Given the description of an element on the screen output the (x, y) to click on. 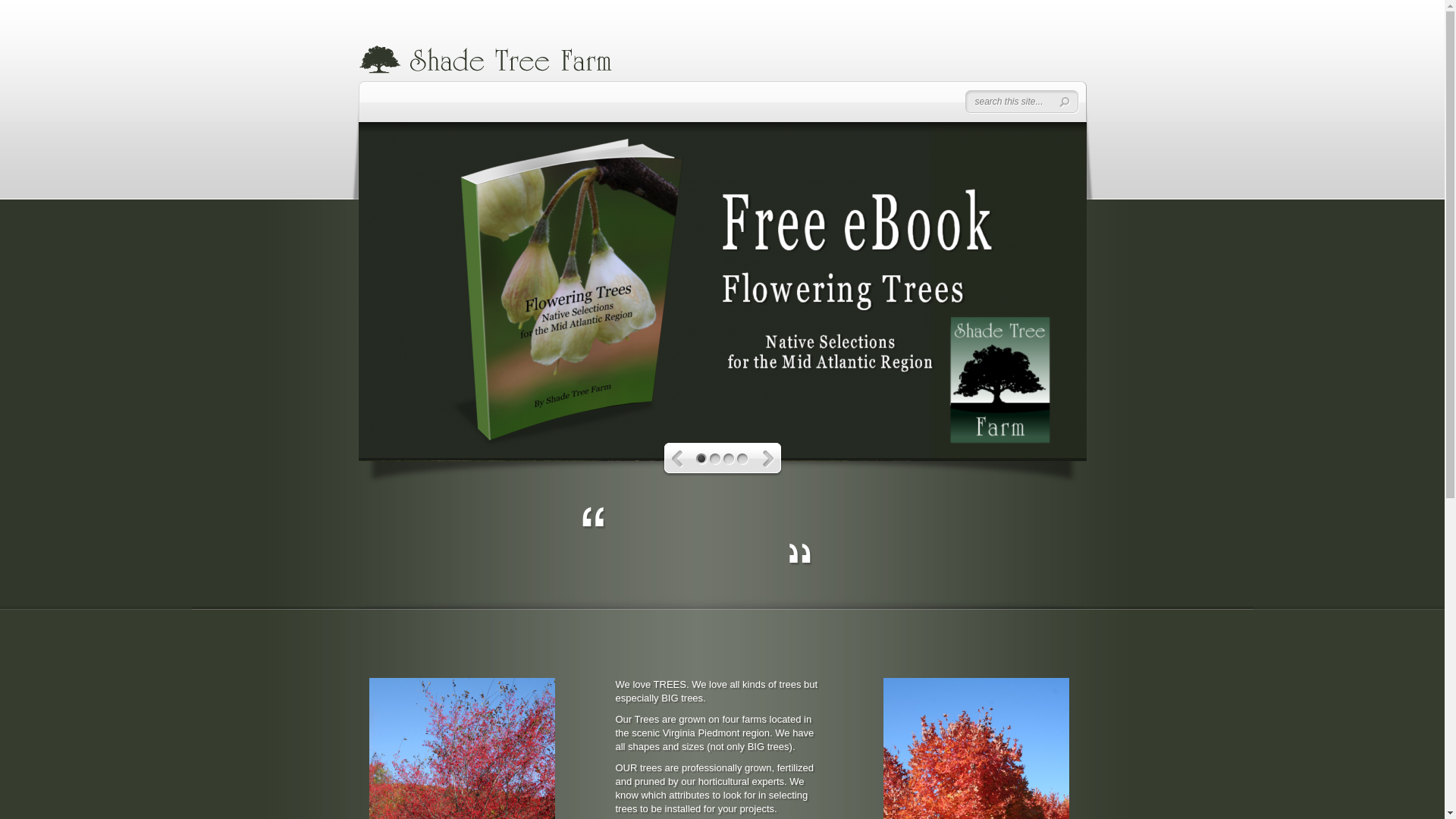
Legacy Sugar Maple (975, 748)
search this site... (1009, 101)
